Given the description of an element on the screen output the (x, y) to click on. 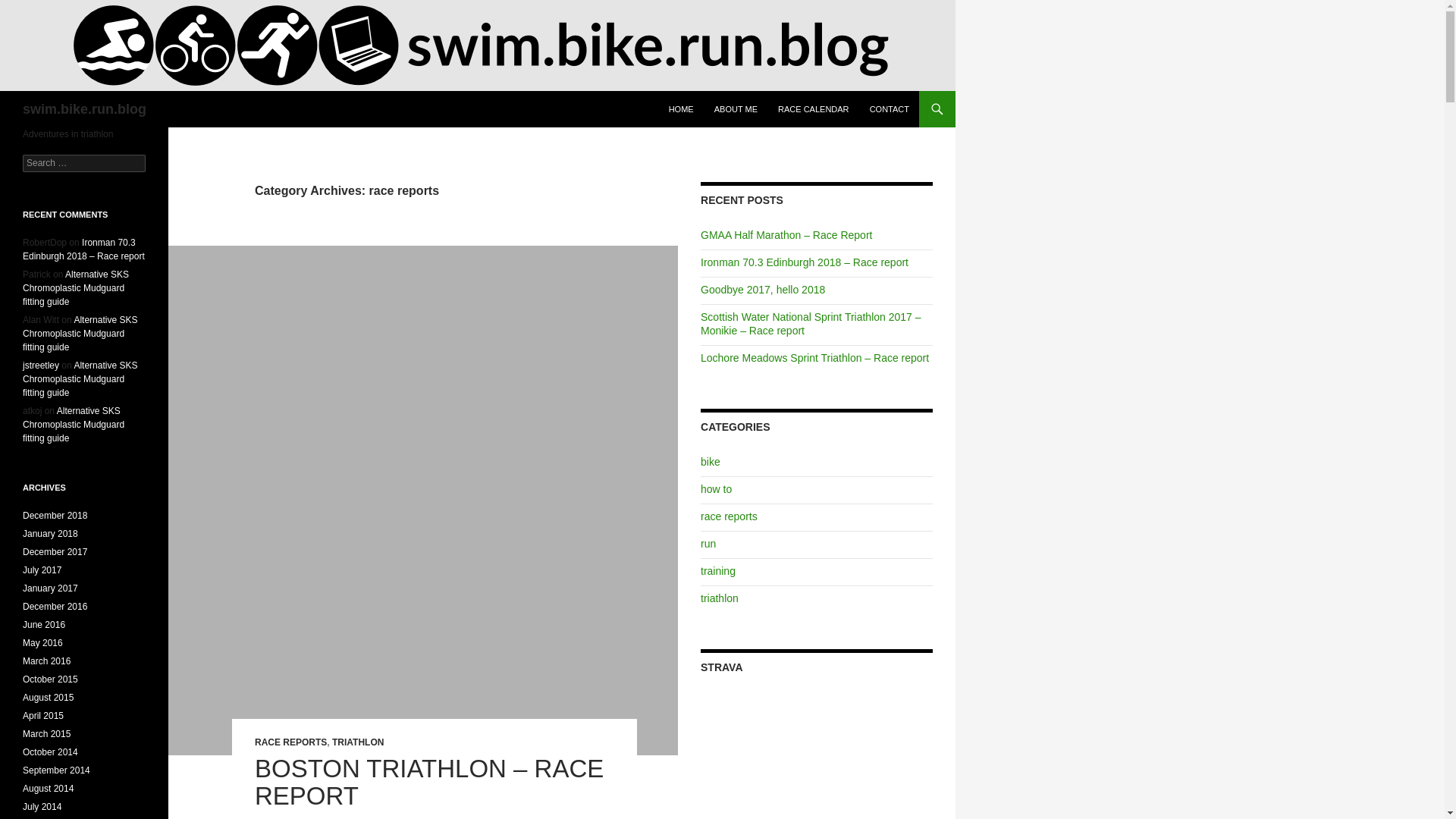
RACE REPORTS (290, 742)
RACE CALENDAR (813, 108)
swim.bike.run.blog (85, 108)
ABOUT ME (735, 108)
TRIATHLON (357, 742)
CONTACT (889, 108)
HOME (681, 108)
